Given the description of an element on the screen output the (x, y) to click on. 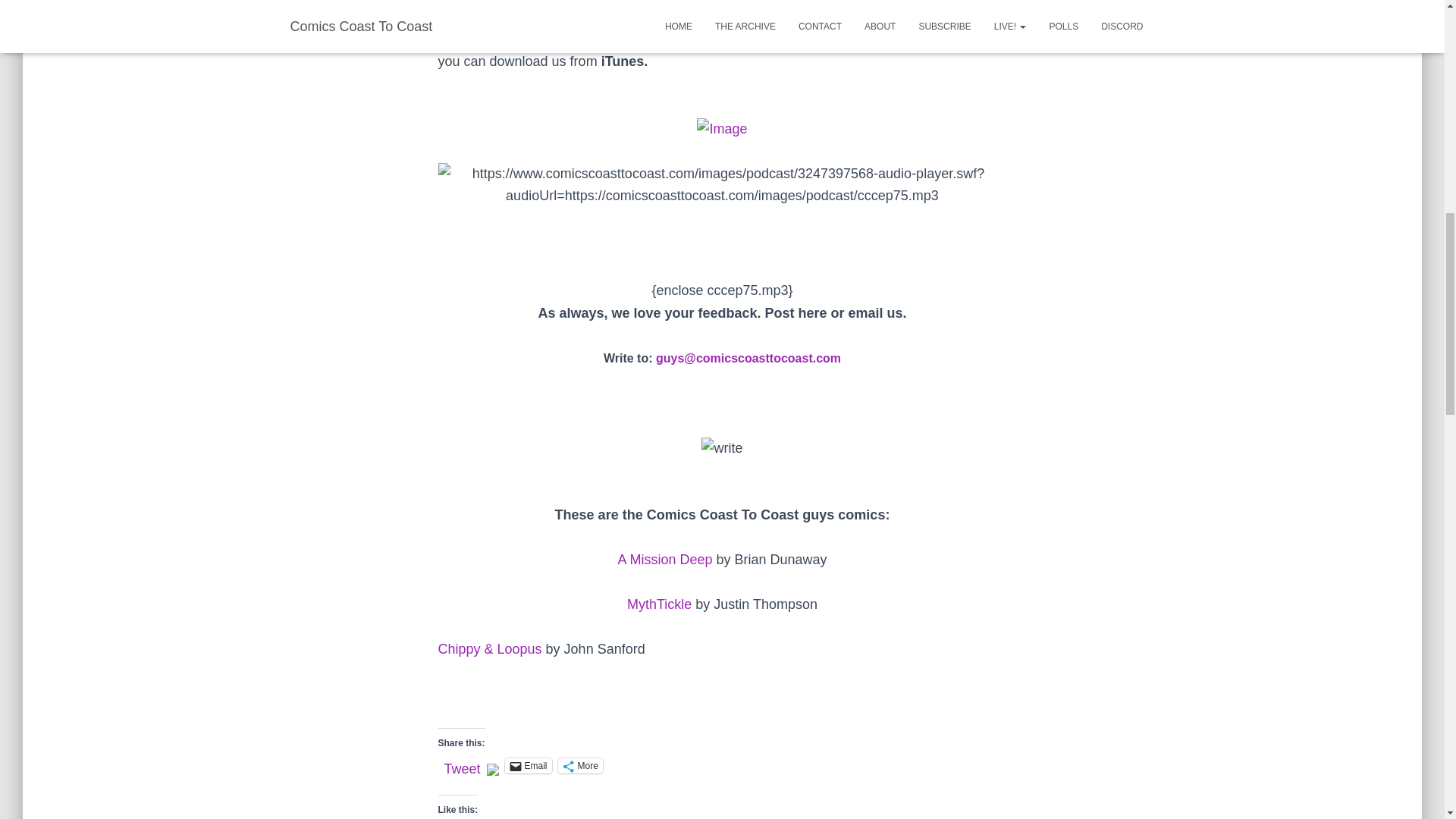
Email (528, 765)
MythTickle (659, 604)
Click to email a link to a friend (528, 765)
write (721, 448)
Tweet (462, 765)
A Mission Deep (664, 559)
More (579, 765)
Image (721, 128)
